Given the description of an element on the screen output the (x, y) to click on. 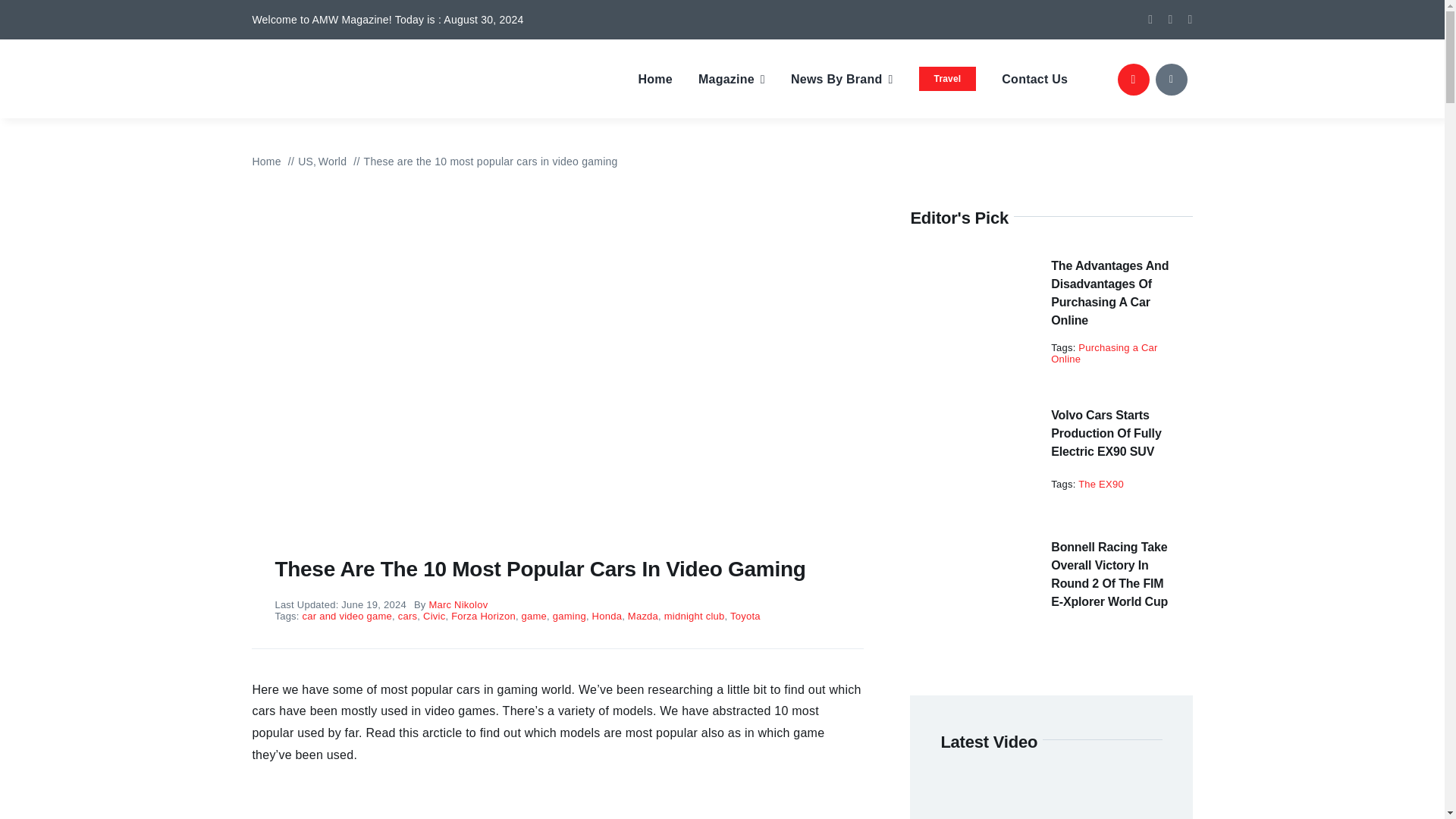
Contact Us (1034, 78)
Posts by Marc Nikolov (457, 604)
Magazine (731, 78)
News By Brand (841, 78)
Travel (947, 78)
